Given the description of an element on the screen output the (x, y) to click on. 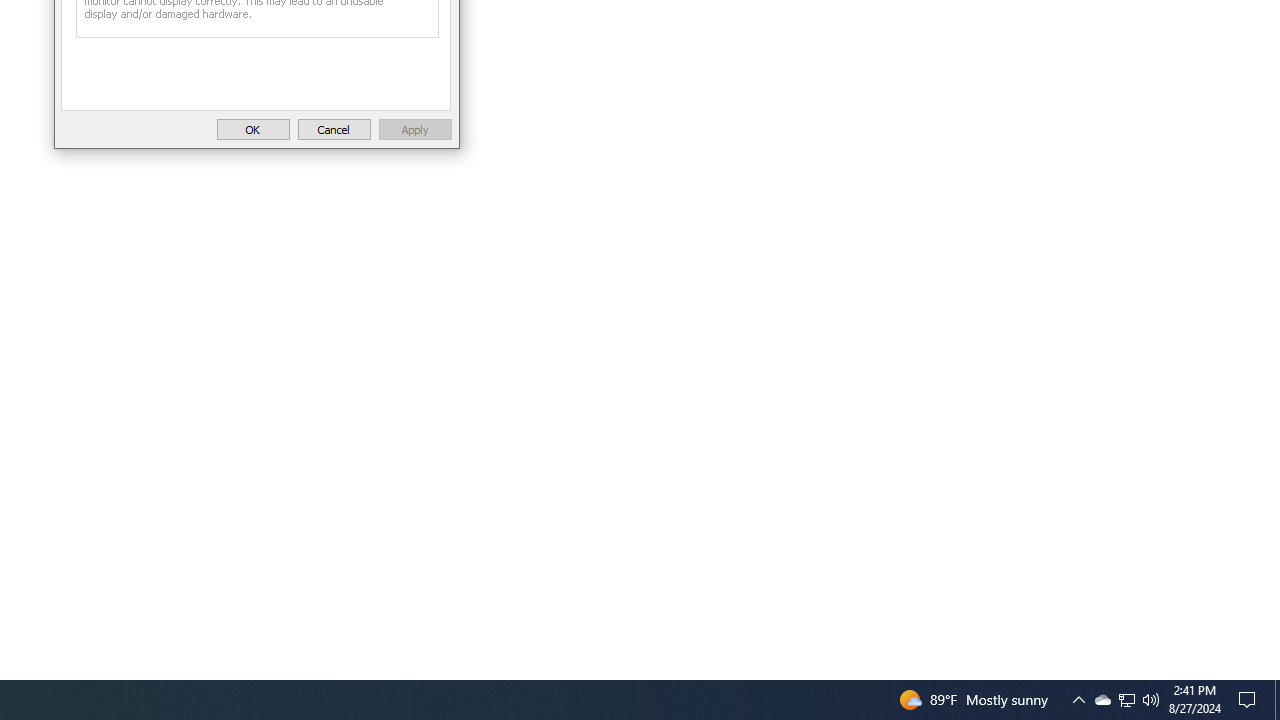
User Promoted Notification Area (1126, 699)
Cancel (1126, 699)
Notification Chevron (1102, 699)
Apply (334, 129)
OK (1078, 699)
Q2790: 100% (415, 129)
Show desktop (253, 129)
Action Center, No new notifications (1151, 699)
